Given the description of an element on the screen output the (x, y) to click on. 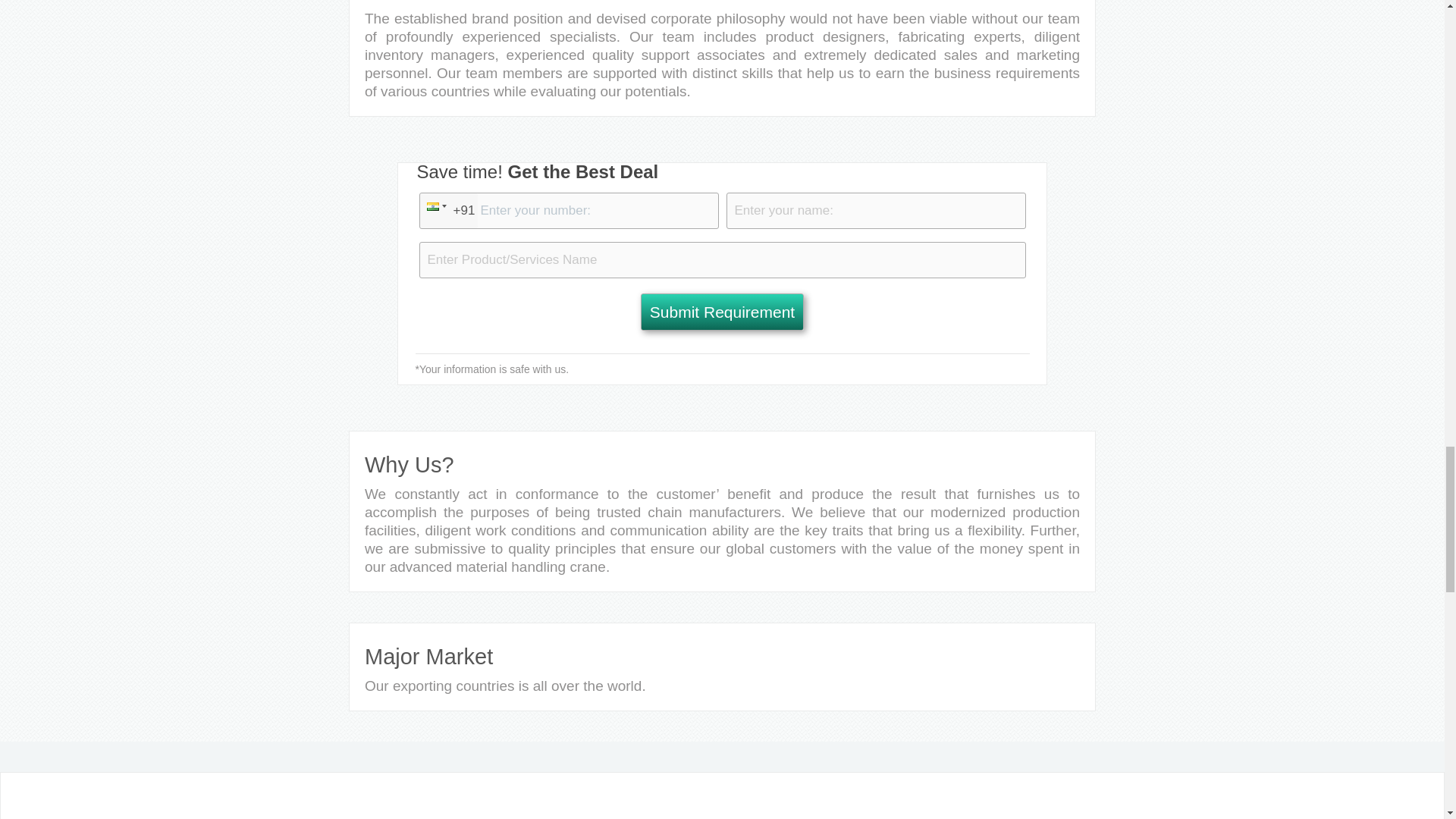
Submit Requirement (721, 311)
Enter your name: (876, 210)
Enter your number: (568, 210)
Submit Requirement (721, 311)
